Given the description of an element on the screen output the (x, y) to click on. 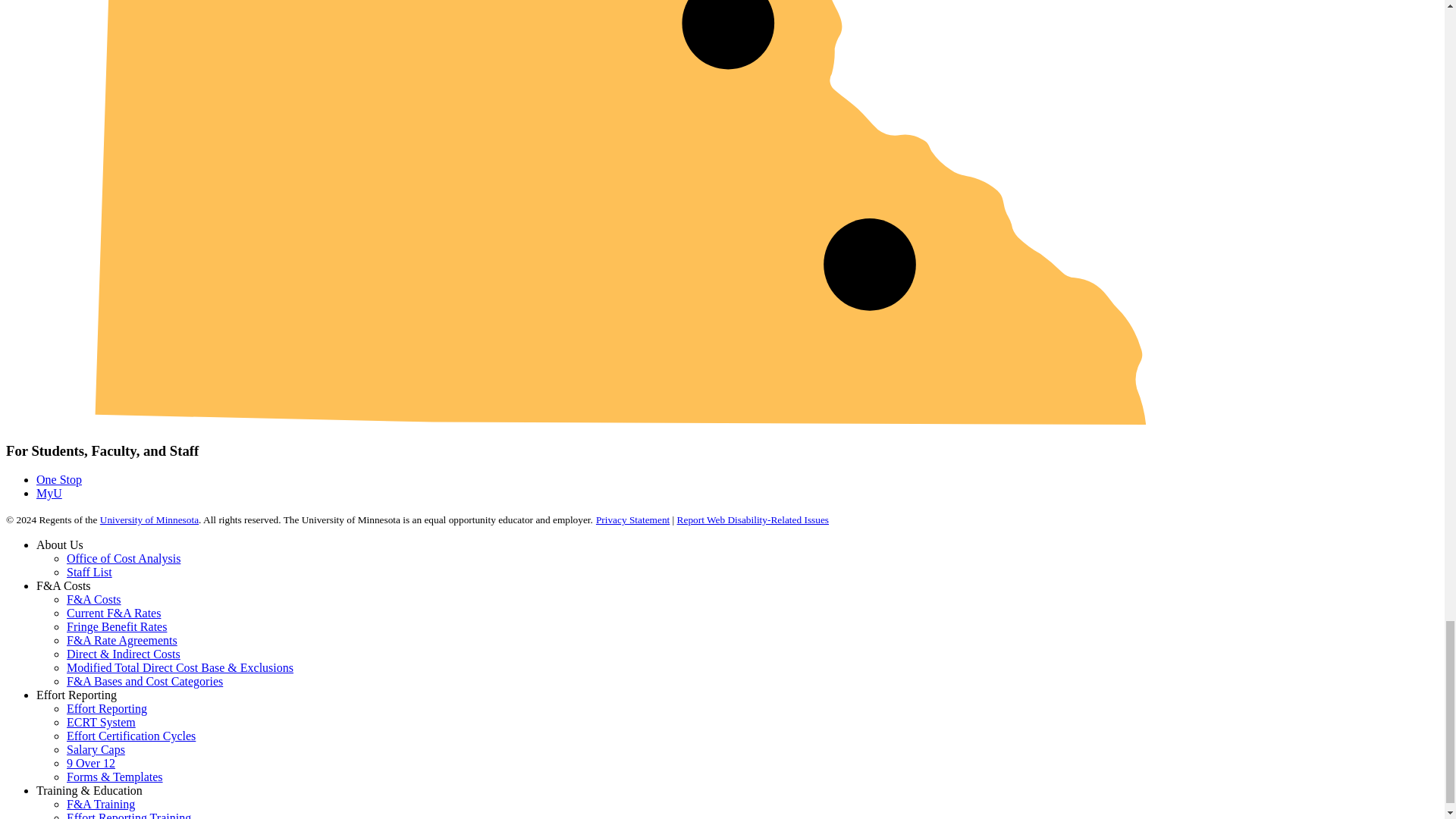
University of Minnesota Rochester (869, 264)
University of Minnesota Twin Cities (727, 34)
